Given the description of an element on the screen output the (x, y) to click on. 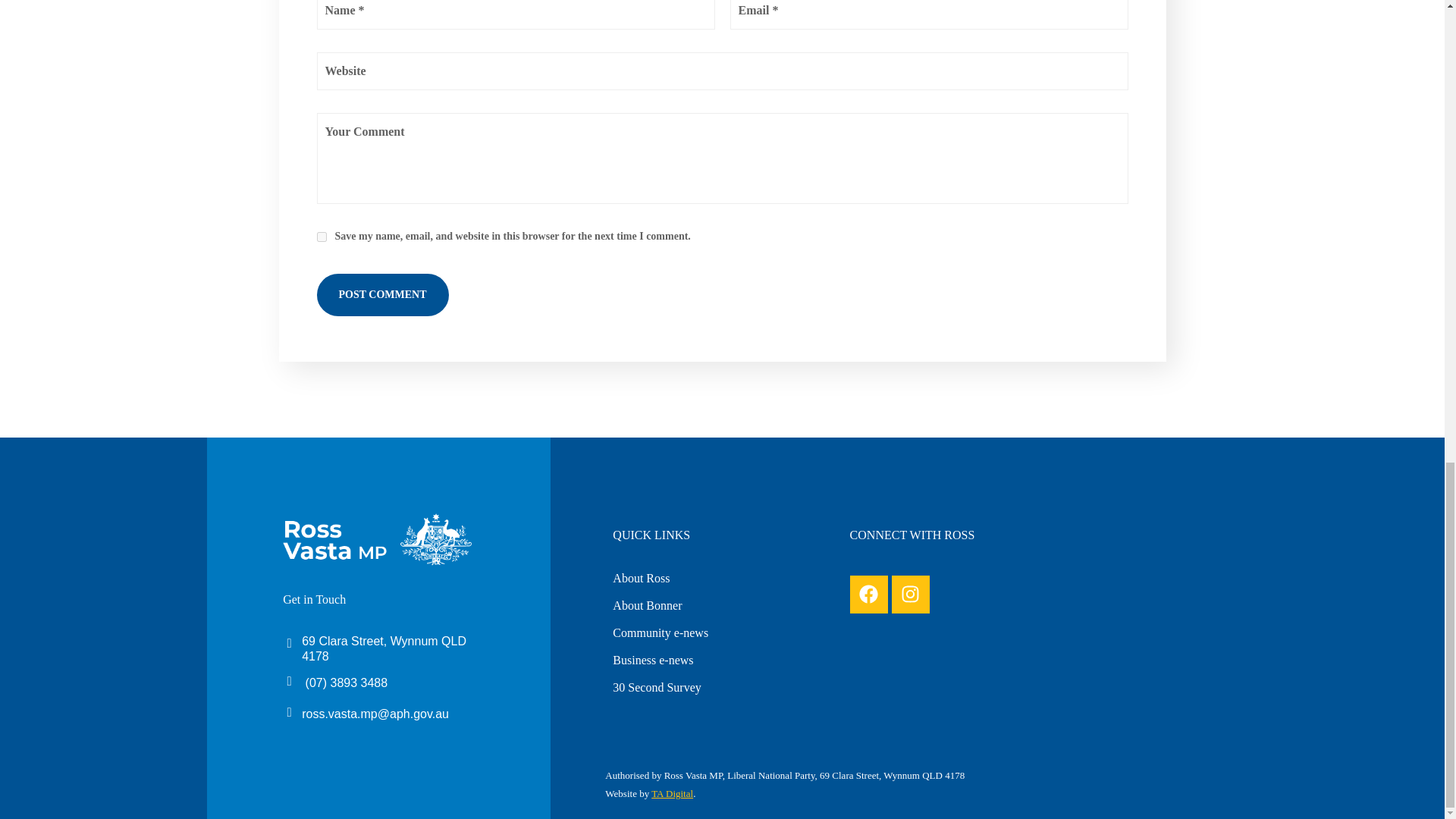
Website (722, 71)
yes (321, 236)
Post Comment (382, 294)
